Given the description of an element on the screen output the (x, y) to click on. 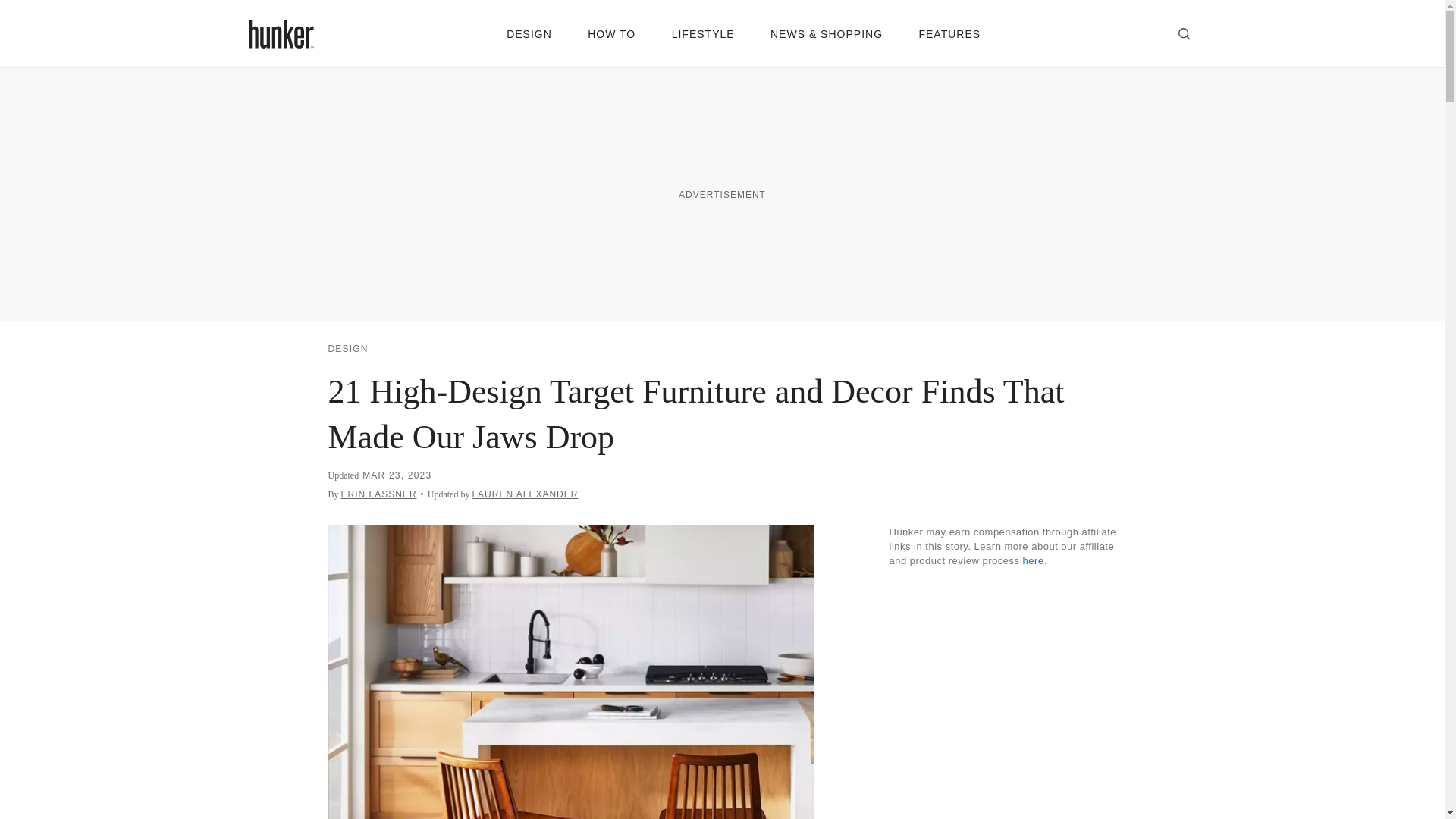
Learn more about our affiliate and product review process (1033, 560)
